Given the description of an element on the screen output the (x, y) to click on. 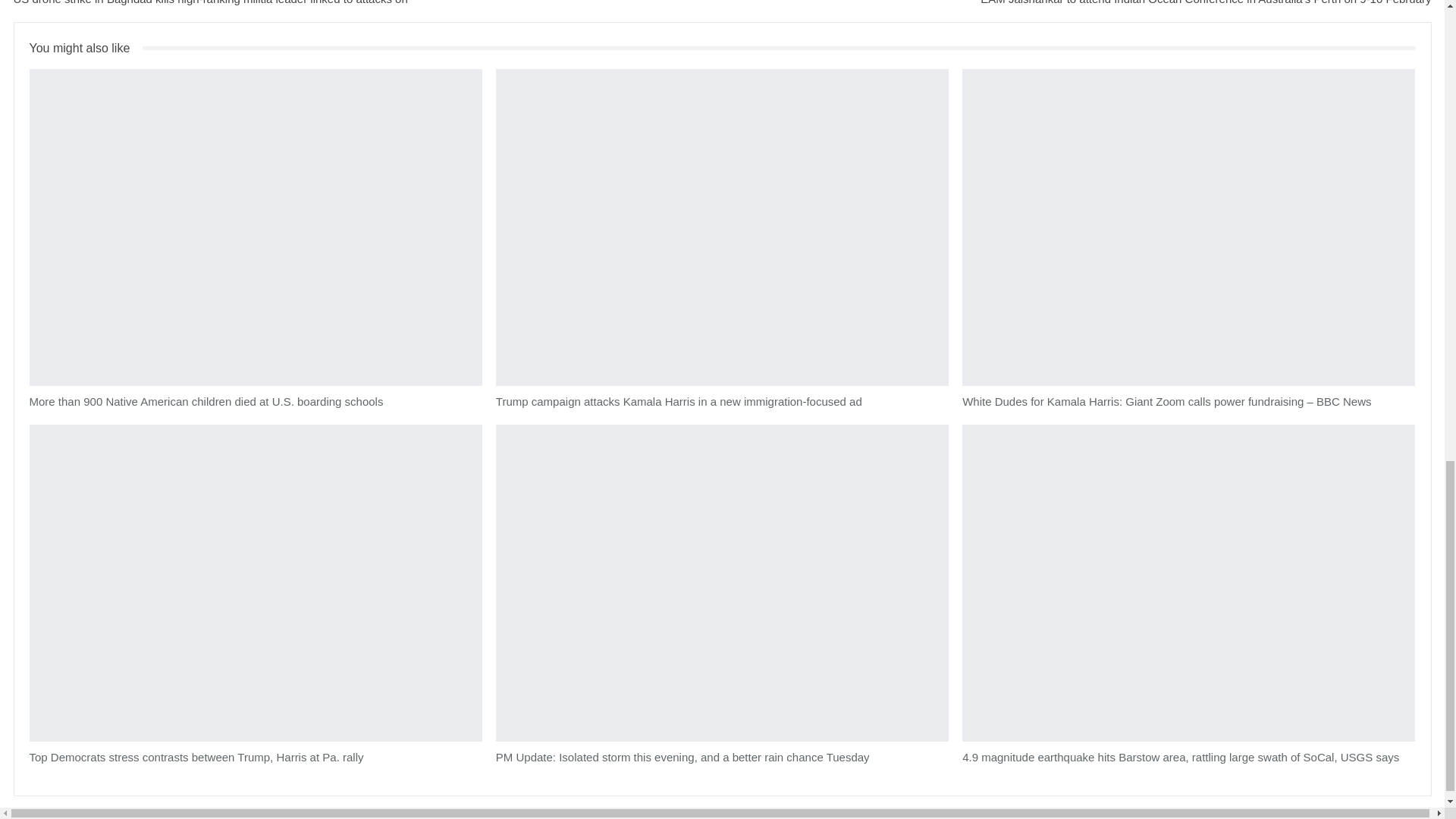
You might also like (85, 47)
U.S. (34, 70)
